Given the description of an element on the screen output the (x, y) to click on. 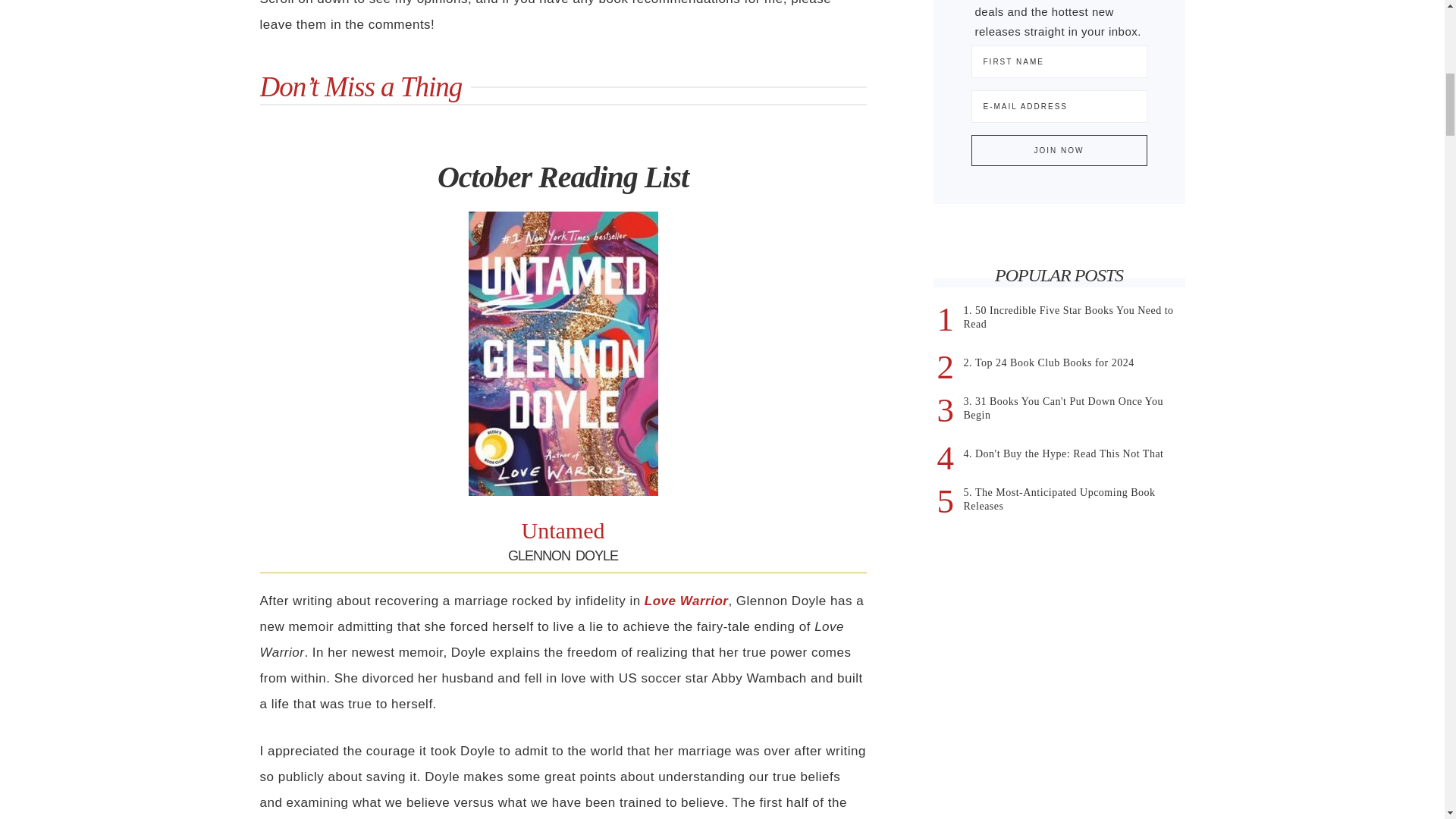
Join Now (1059, 150)
Untamed (563, 529)
Love Warrior (684, 600)
